Given the description of an element on the screen output the (x, y) to click on. 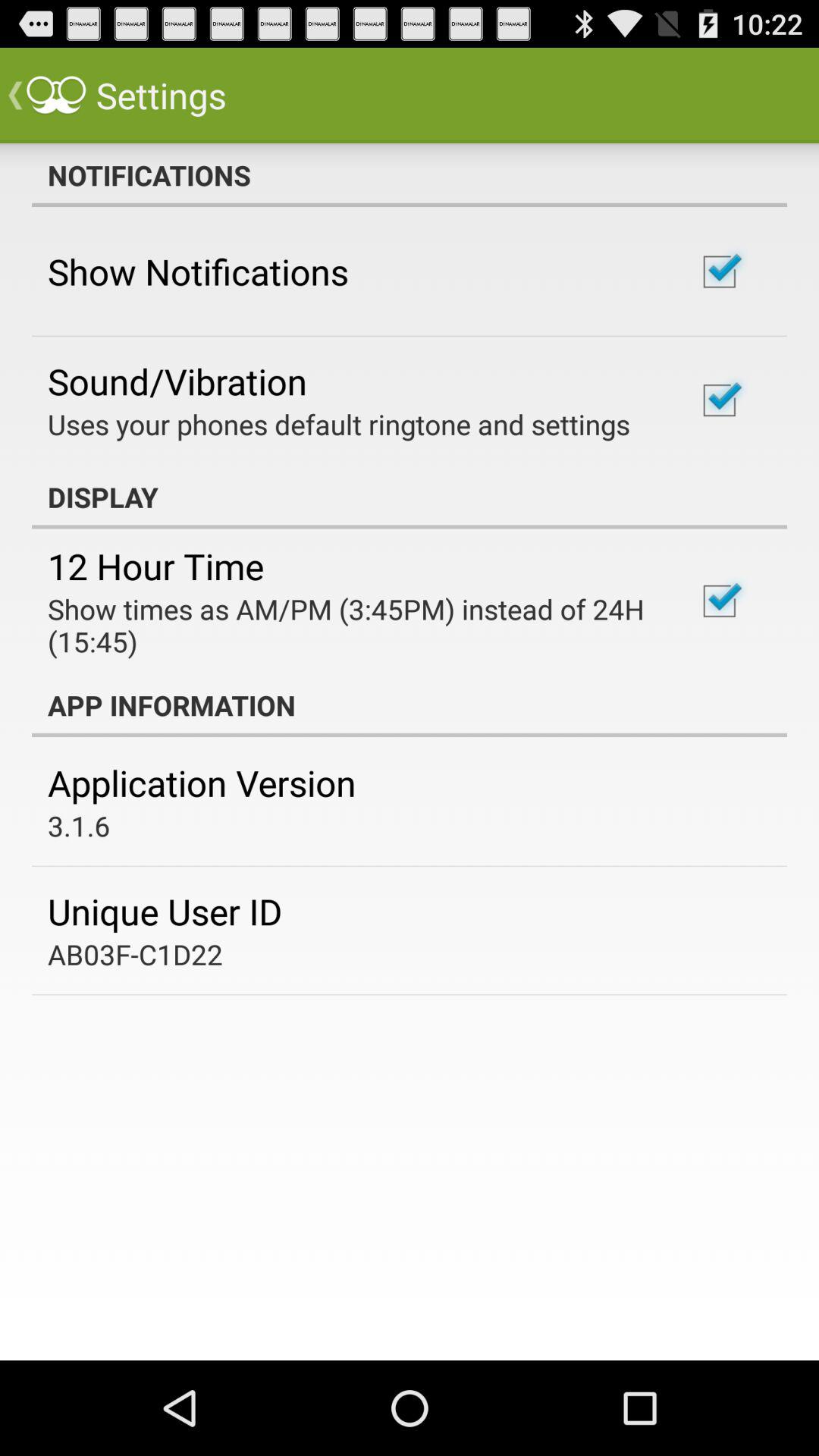
click application version app (201, 782)
